Given the description of an element on the screen output the (x, y) to click on. 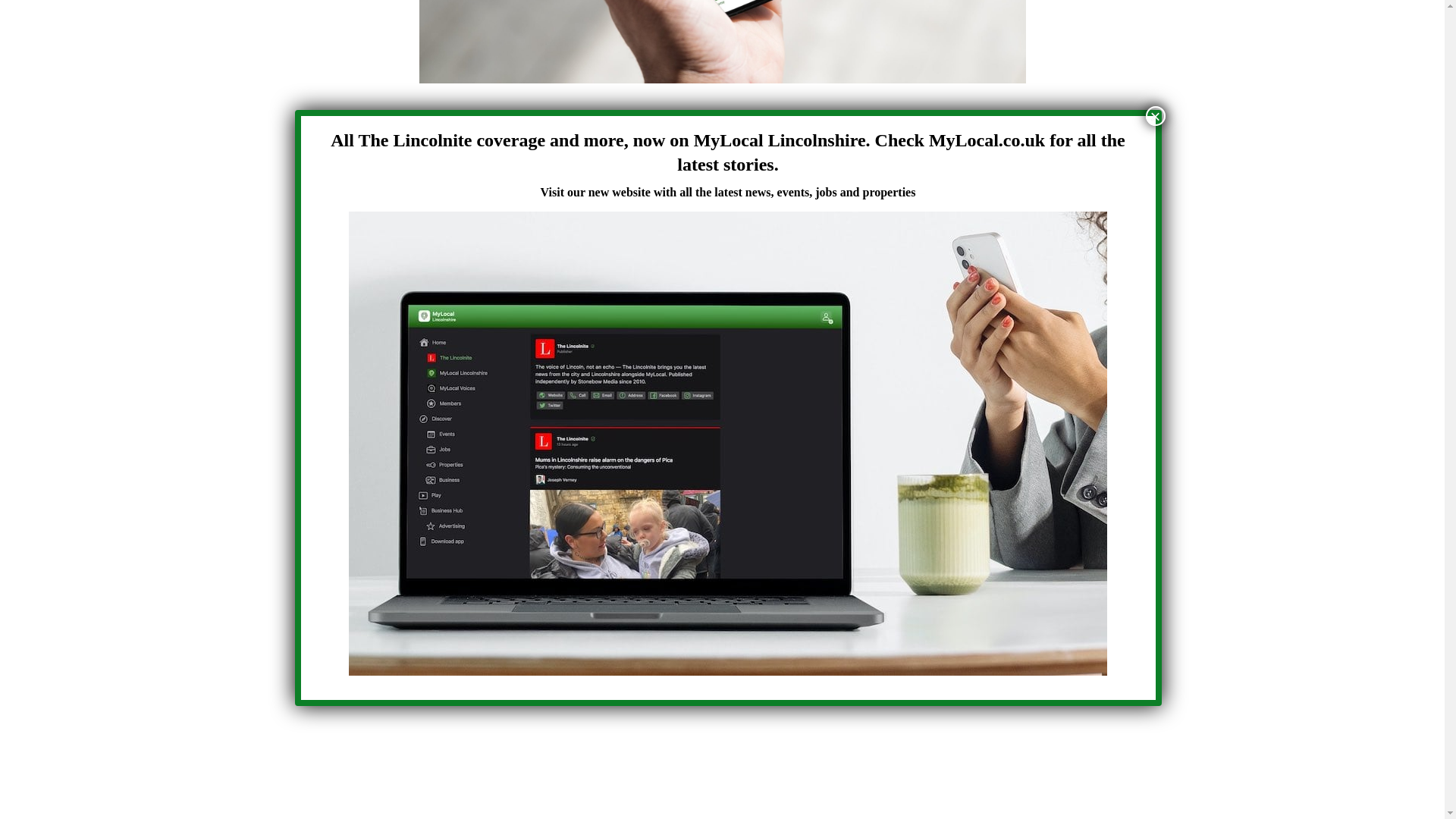
Contact author (651, 123)
